Given the description of an element on the screen output the (x, y) to click on. 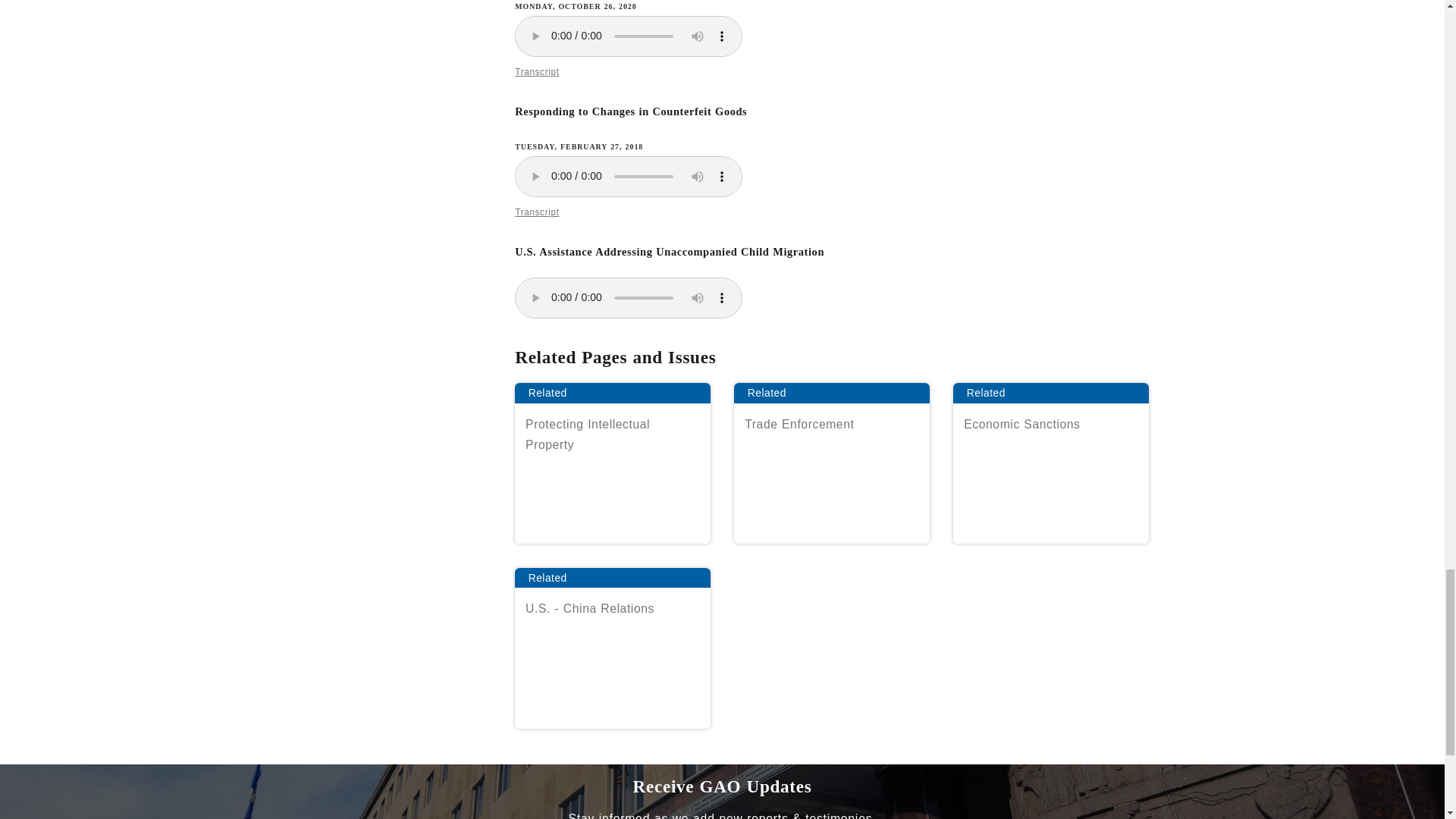
Transcript (537, 71)
Transcript (537, 212)
